Given the description of an element on the screen output the (x, y) to click on. 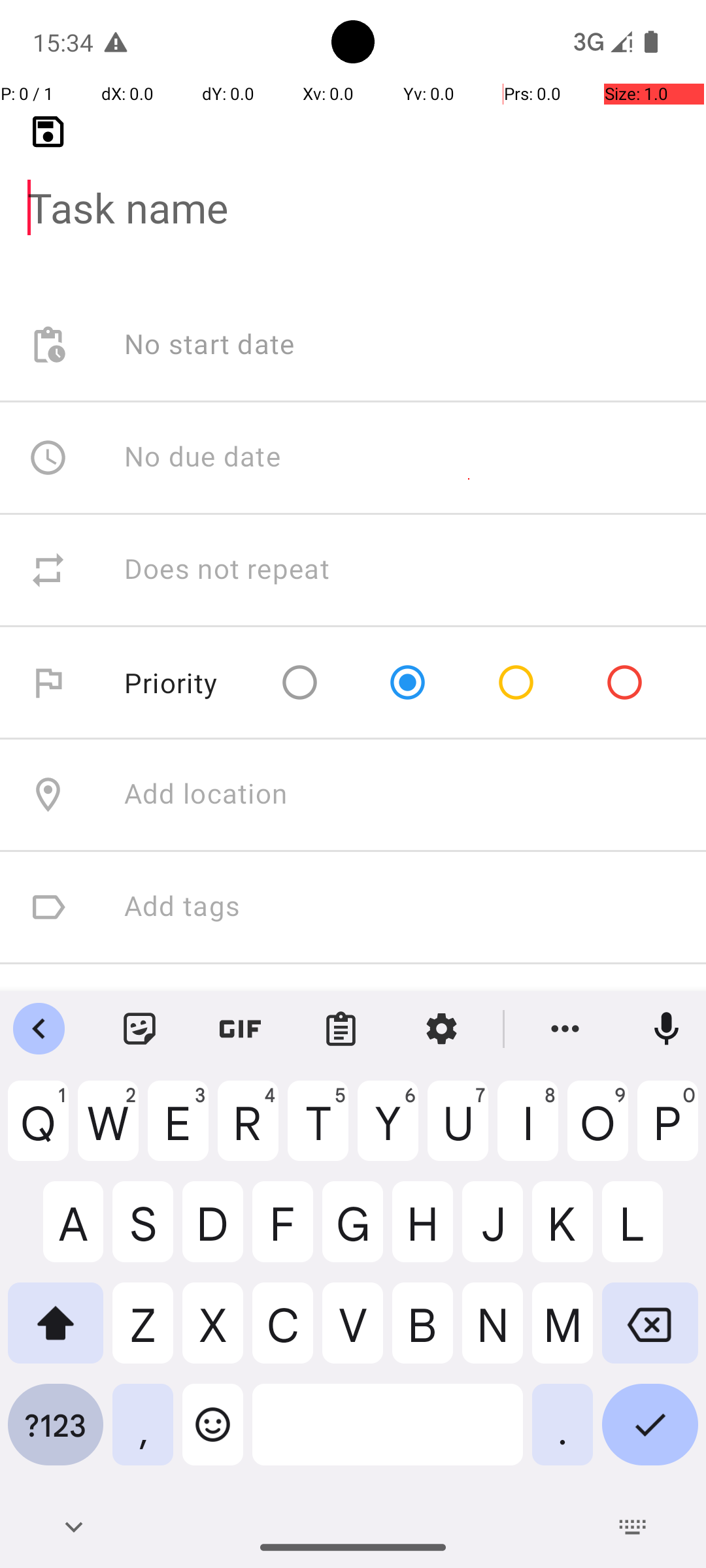
Task name Element type: android.widget.EditText (353, 186)
No due date Element type: android.widget.TextView (202, 457)
No start date Element type: android.widget.TextView (209, 344)
